Given the description of an element on the screen output the (x, y) to click on. 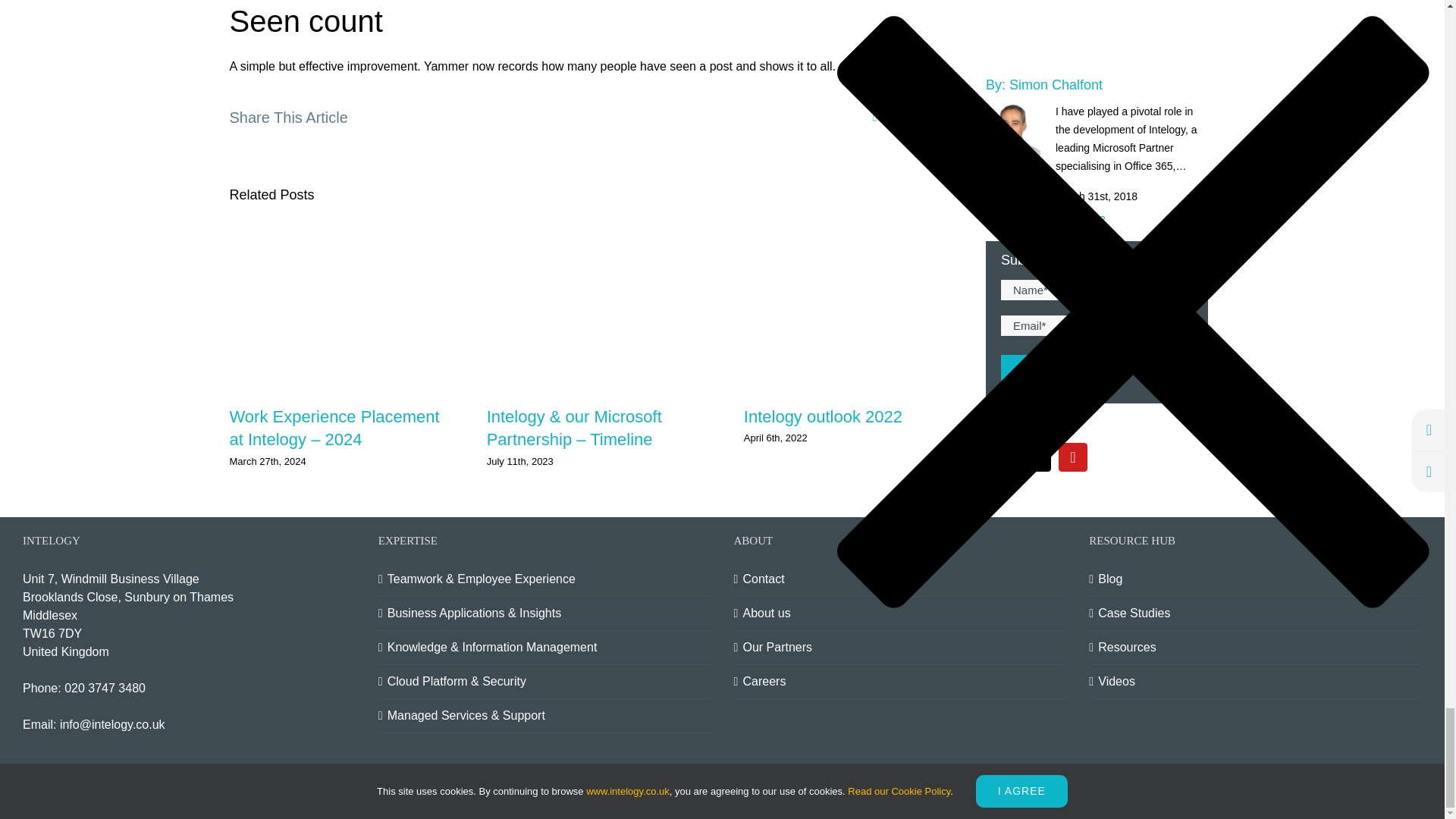
Email (952, 117)
X (874, 117)
LinkedIn (913, 117)
X (1371, 784)
YouTube (1407, 784)
Reddit (894, 117)
LinkedIn (1334, 784)
WhatsApp (933, 117)
Intelogy outlook 2022 (823, 416)
